Given the description of an element on the screen output the (x, y) to click on. 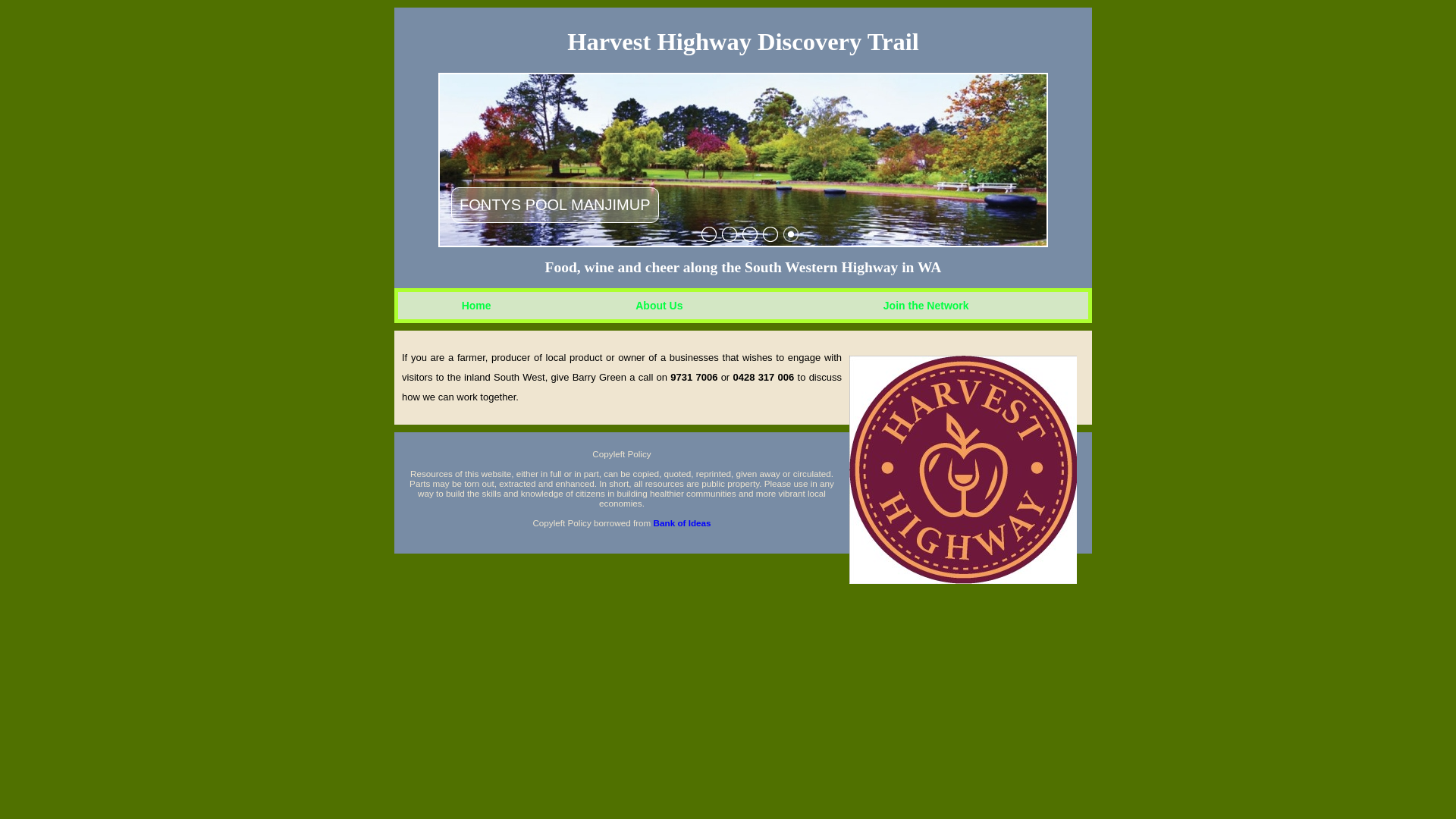
1 Element type: text (707, 233)
Join the Network Element type: text (926, 305)
4 Element type: text (770, 233)
Home Element type: text (476, 305)
3 Element type: text (748, 233)
2 Element type: text (729, 233)
Bank of Ideas Element type: text (682, 522)
Fontys Pool Manjimup Element type: hover (742, 159)
5 Element type: text (789, 233)
About Us Element type: text (658, 305)
